Given the description of an element on the screen output the (x, y) to click on. 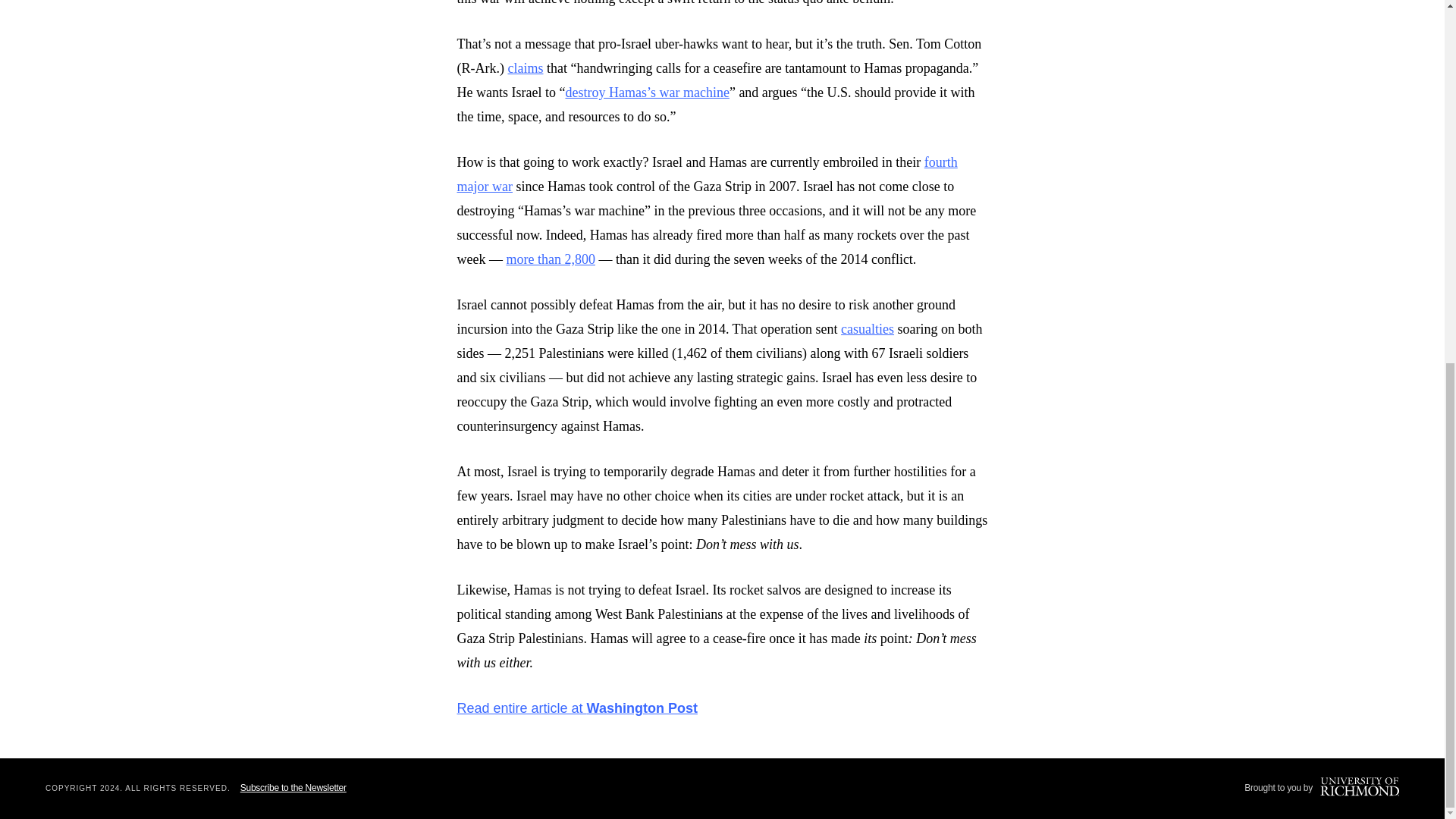
claims (524, 68)
casualties (867, 328)
Read entire article at Washington Post (577, 708)
more than 2,800 (549, 258)
fourth major war (706, 174)
Subscribe to the Newsletter (293, 787)
